Given the description of an element on the screen output the (x, y) to click on. 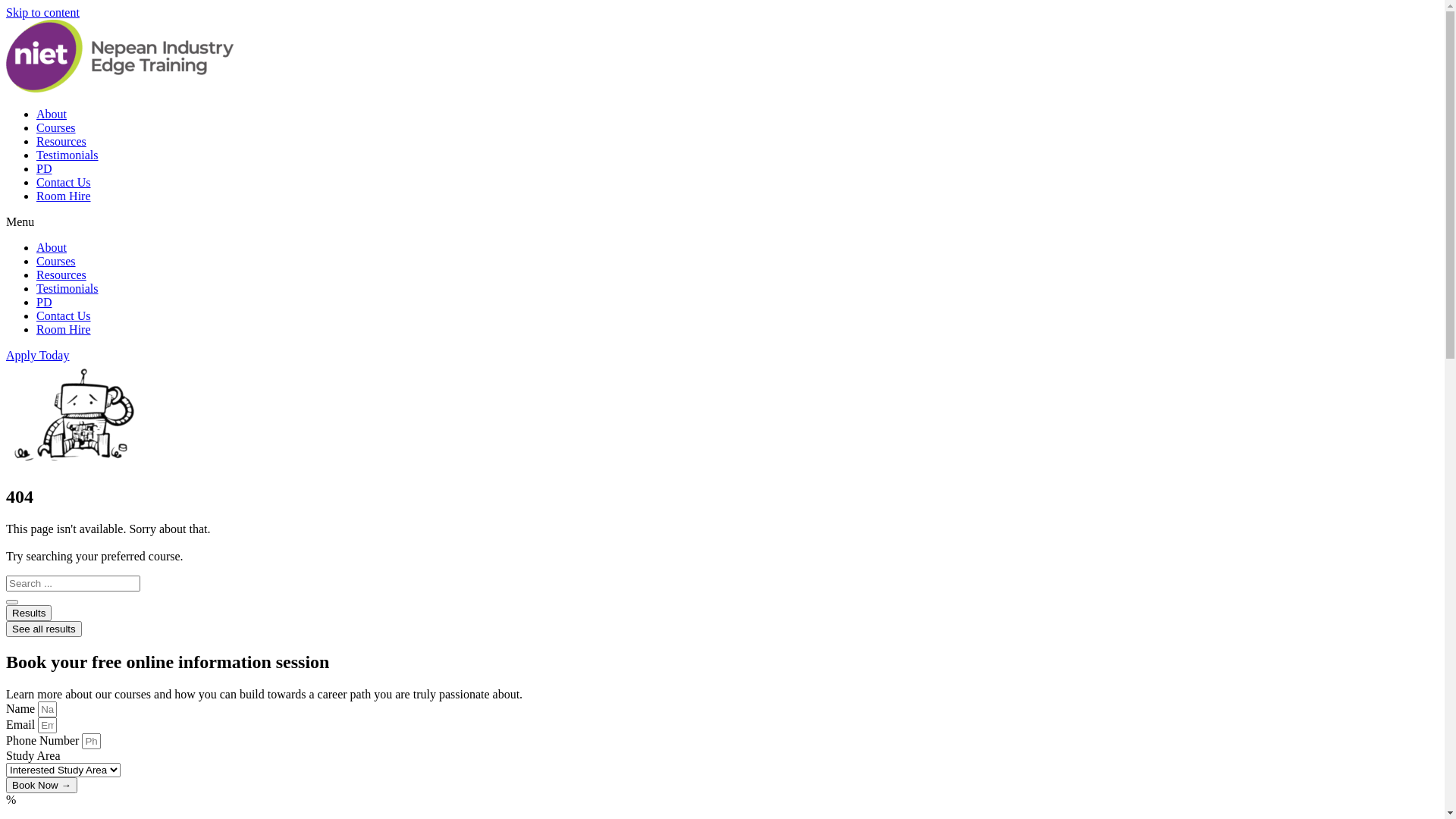
PD Element type: text (43, 301)
Courses Element type: text (55, 260)
About Element type: text (51, 113)
Testimonials Element type: text (67, 288)
Resources Element type: text (61, 140)
Skip to content Element type: text (42, 12)
About Element type: text (51, 247)
Courses Element type: text (55, 127)
Testimonials Element type: text (67, 154)
Results Element type: text (28, 613)
See all results Element type: text (43, 629)
Contact Us Element type: text (63, 315)
Room Hire Element type: text (63, 329)
Room Hire Element type: text (63, 195)
Resources Element type: text (61, 274)
Apply Today Element type: text (37, 354)
PD Element type: text (43, 168)
Contact Us Element type: text (63, 181)
